Given the description of an element on the screen output the (x, y) to click on. 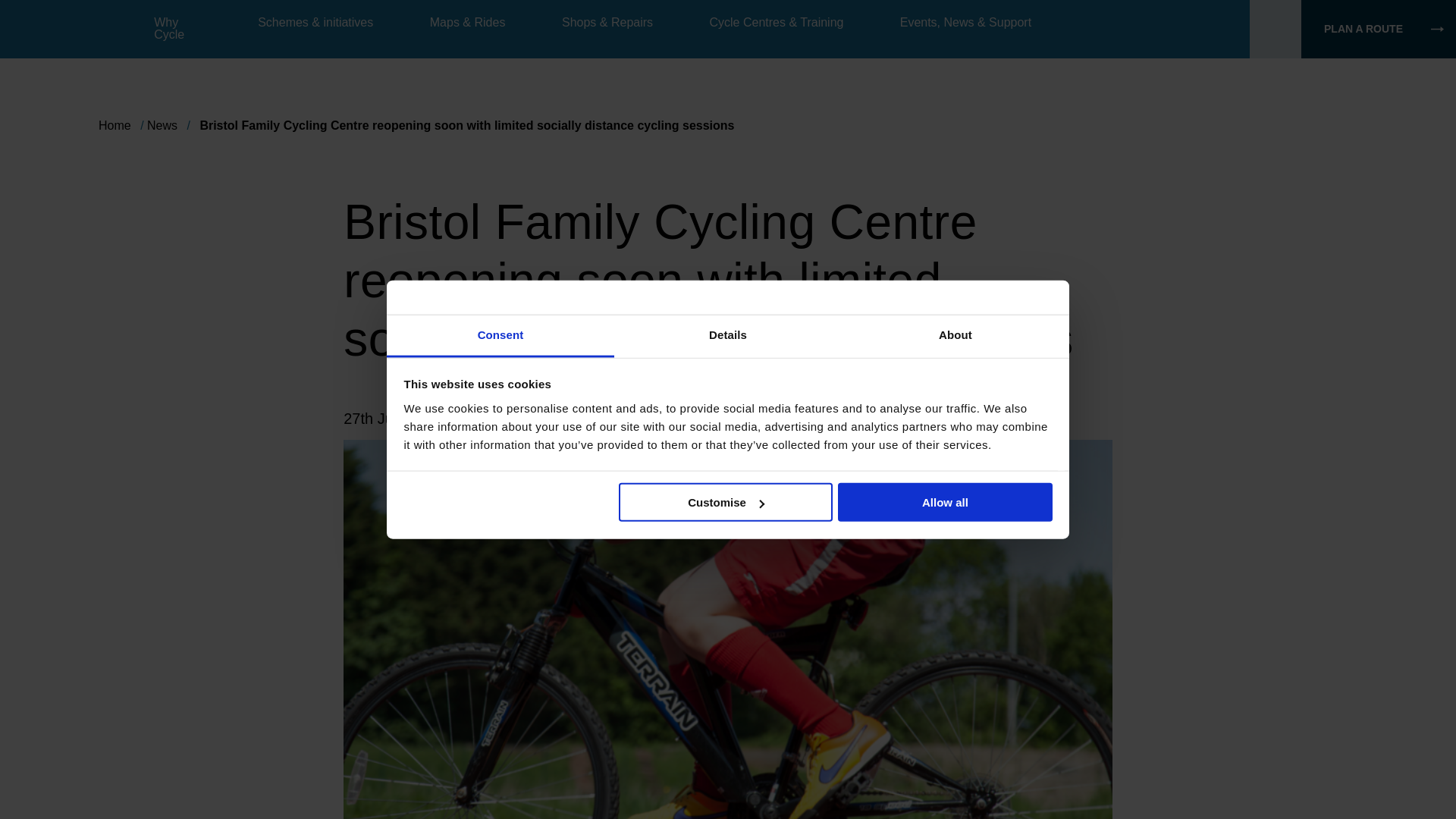
Details (727, 336)
Allow all (944, 502)
Consent (500, 336)
Customise (725, 502)
About (954, 336)
